Given the description of an element on the screen output the (x, y) to click on. 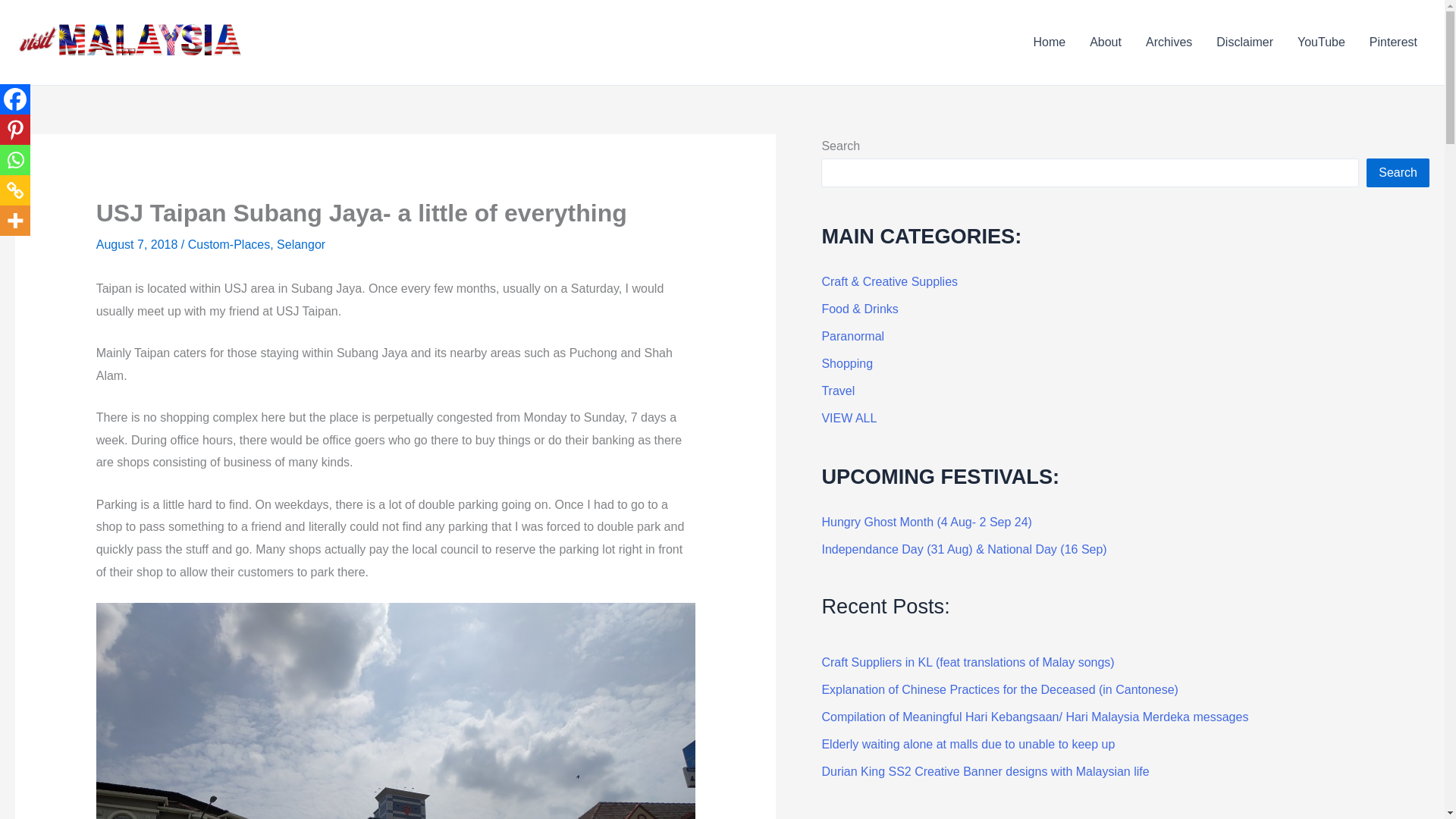
Selangor (300, 244)
More (15, 220)
Disclaimer (1244, 42)
Pinterest (15, 129)
Facebook (15, 99)
Copy Link (15, 190)
Custom-Places (228, 244)
YouTube (1320, 42)
Home (1048, 42)
Pinterest (1392, 42)
Archives (1169, 42)
Whatsapp (15, 159)
About (1105, 42)
